Given the description of an element on the screen output the (x, y) to click on. 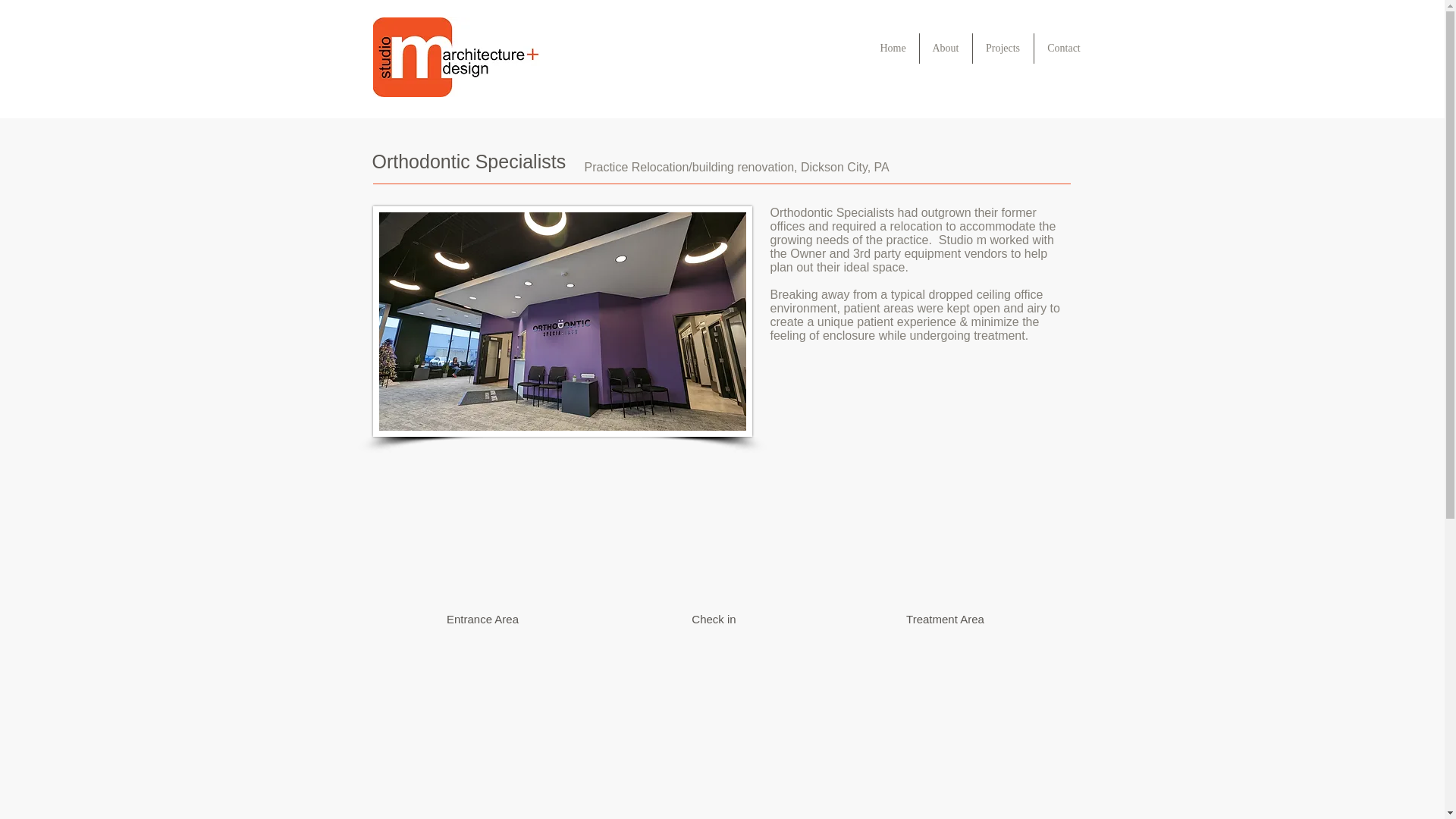
About (944, 48)
Home (892, 48)
barrehall.jpg (562, 321)
Contact (1063, 48)
Projects (1002, 48)
